Given the description of an element on the screen output the (x, y) to click on. 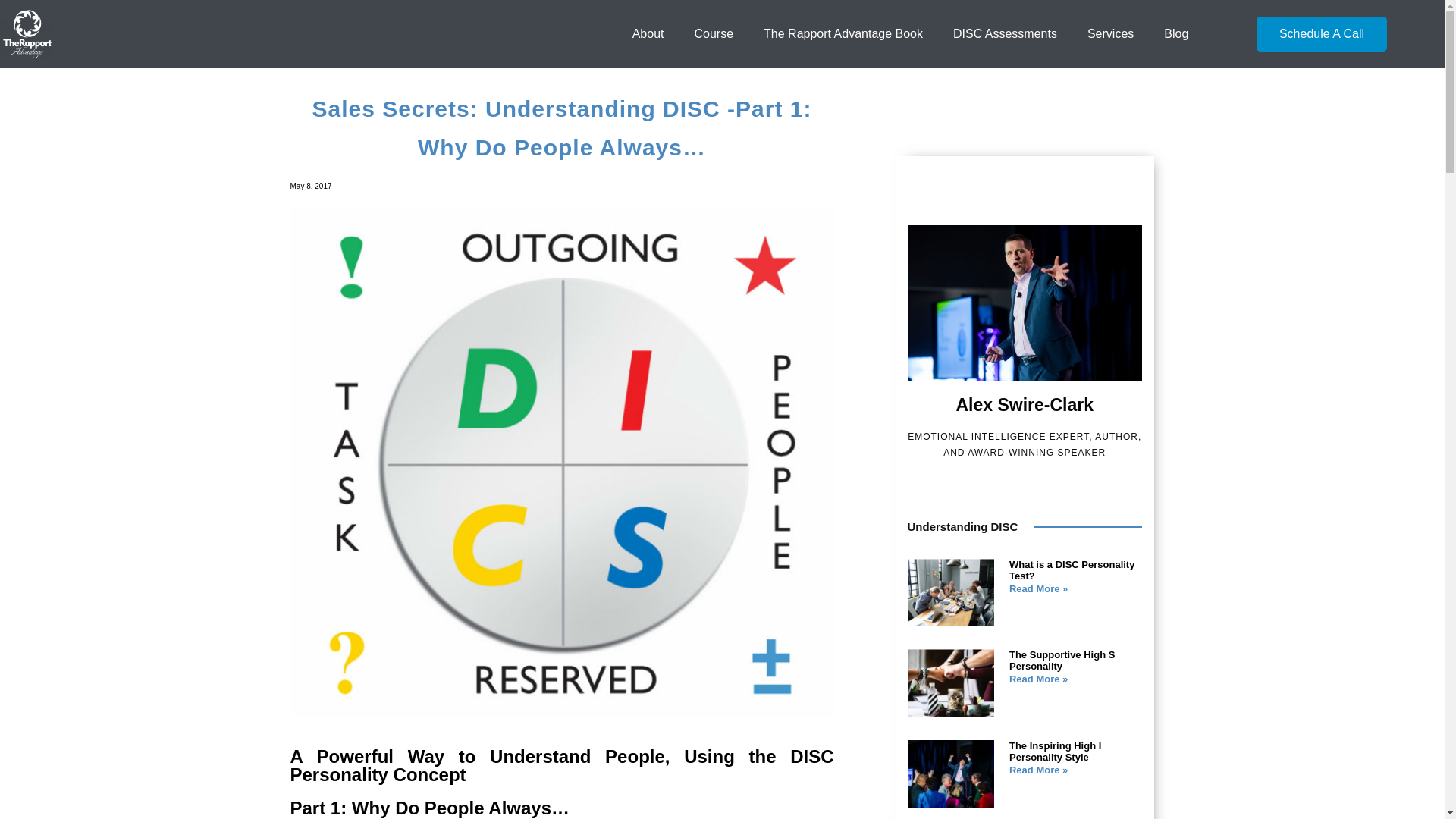
Blog (1176, 33)
Rap Adv Image (26, 33)
Schedule A Call (1321, 33)
The Supportive High S Personality (1063, 660)
Services (1109, 33)
What is a DISC Personality Test? (1075, 569)
DISC Assessments (1004, 33)
May 8, 2017 (310, 185)
About (648, 33)
Course (713, 33)
The Rapport Advantage Book (842, 33)
